Given the description of an element on the screen output the (x, y) to click on. 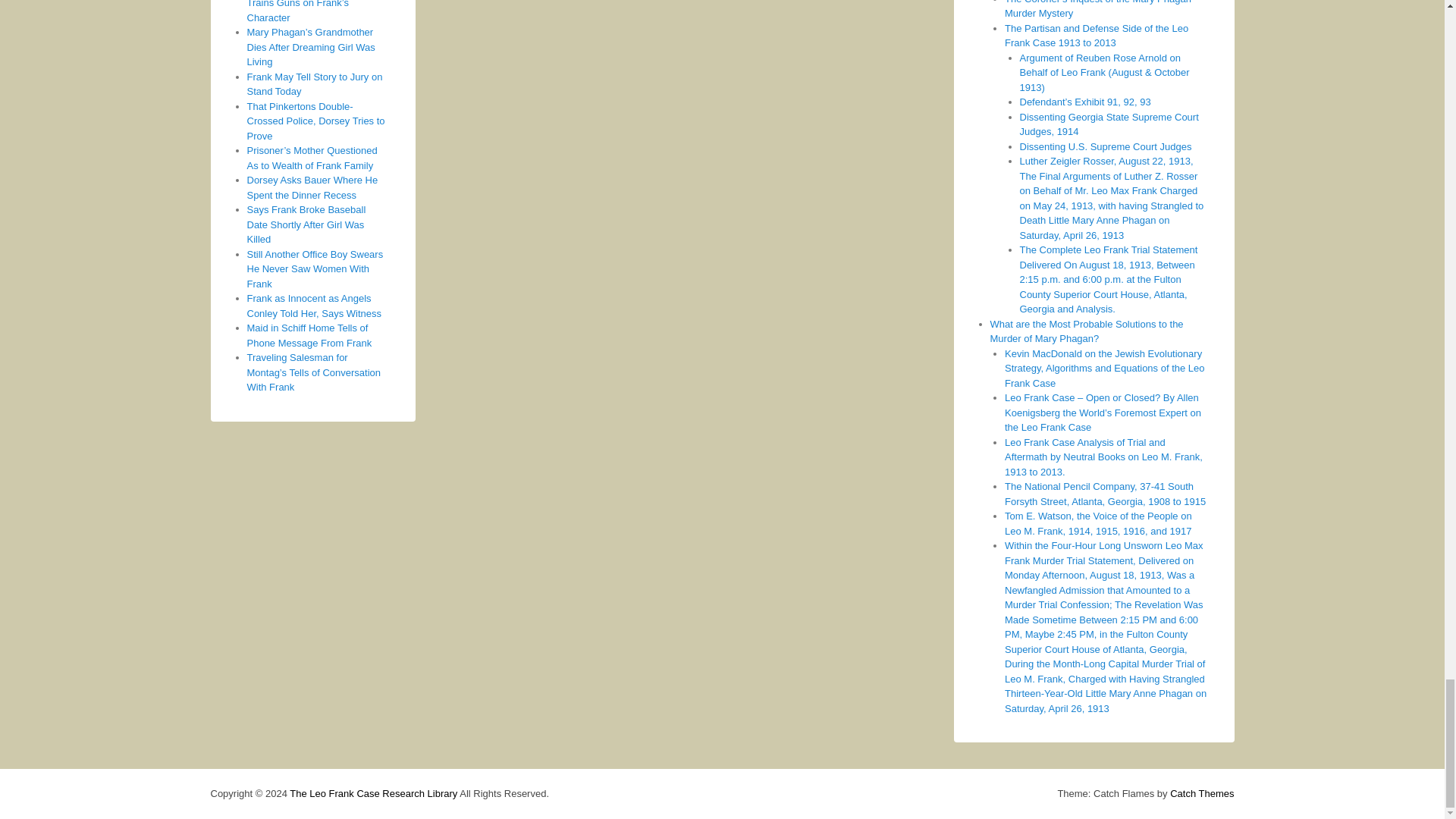
The Leo Frank Case Research Library (373, 793)
Catch Themes (1201, 793)
